Given the description of an element on the screen output the (x, y) to click on. 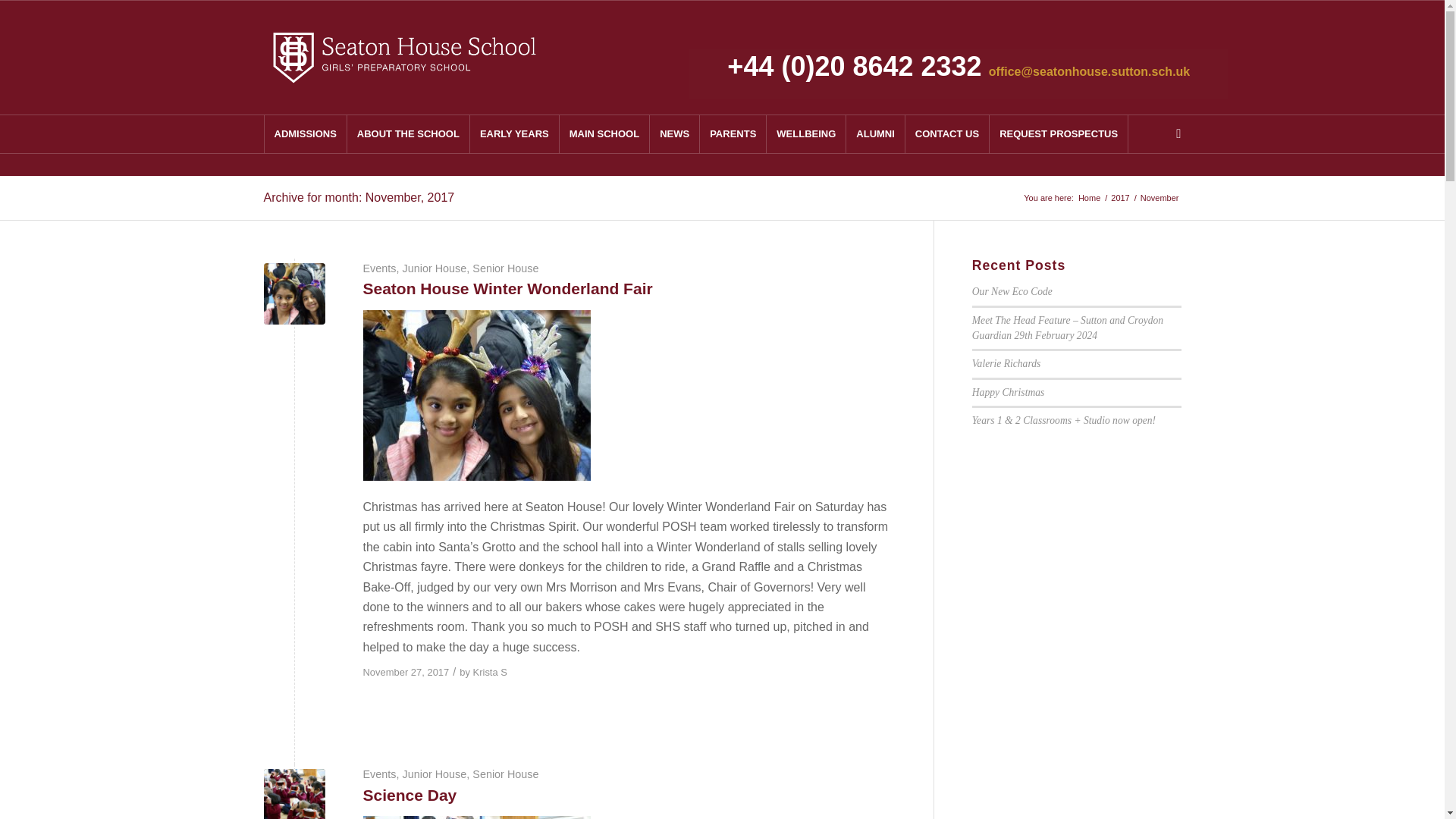
PARENTS (732, 134)
2017 (1119, 197)
Permanent Link: Seaton House Winter Wonderland Fair (507, 288)
EARLY YEARS (514, 134)
Seaton House School (1088, 197)
Posts by Krista S (489, 672)
ADMISSIONS (304, 134)
MAIN SCHOOL (604, 134)
Permanent Link: Science Day (409, 794)
NEWS (673, 134)
